Given the description of an element on the screen output the (x, y) to click on. 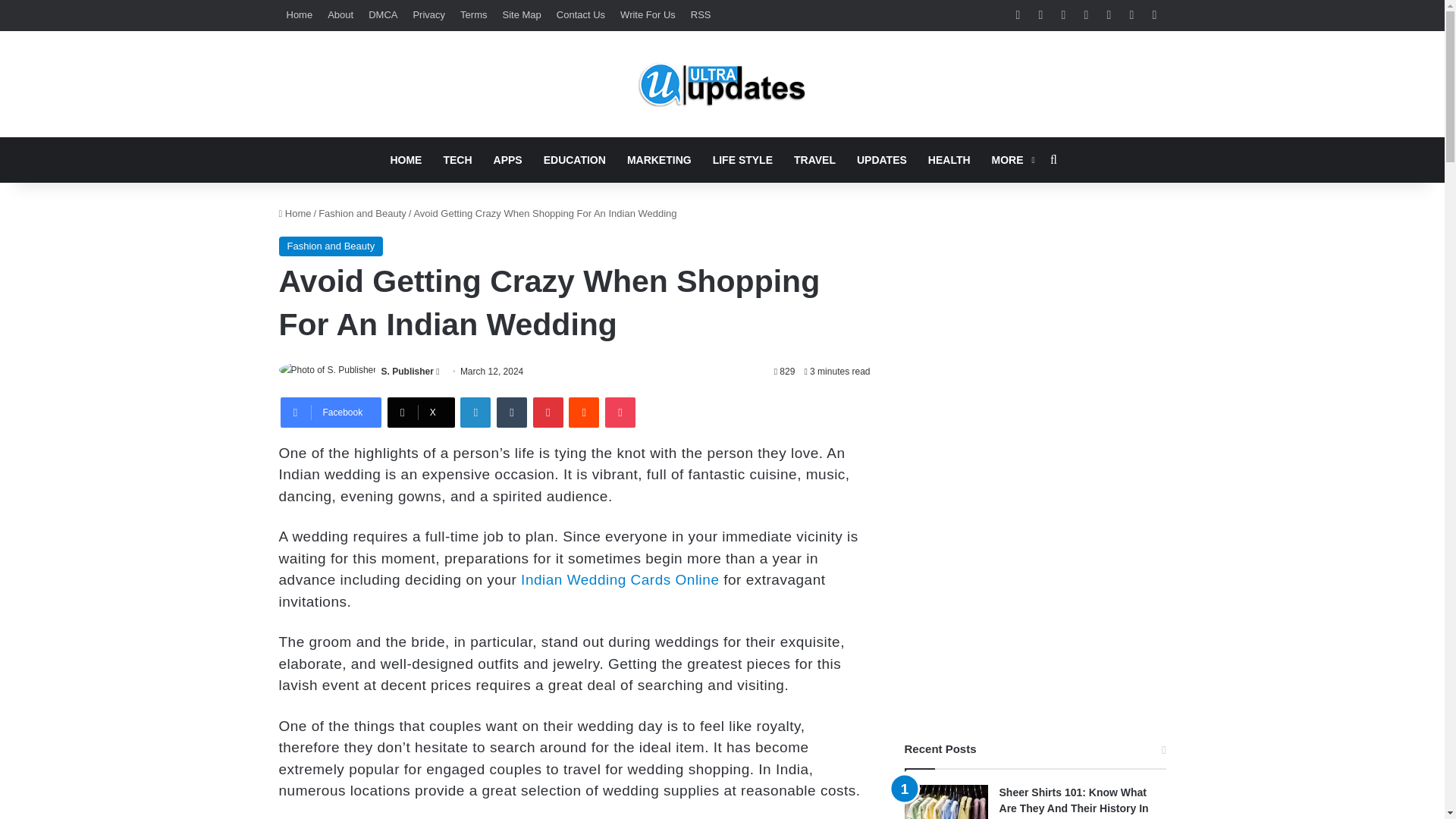
Privacy (428, 15)
HOME (405, 159)
UPDATES (881, 159)
Facebook (331, 412)
RSS (700, 15)
Tumblr (511, 412)
Pinterest (547, 412)
Pocket (619, 412)
TRAVEL (814, 159)
MORE (1011, 159)
